Given the description of an element on the screen output the (x, y) to click on. 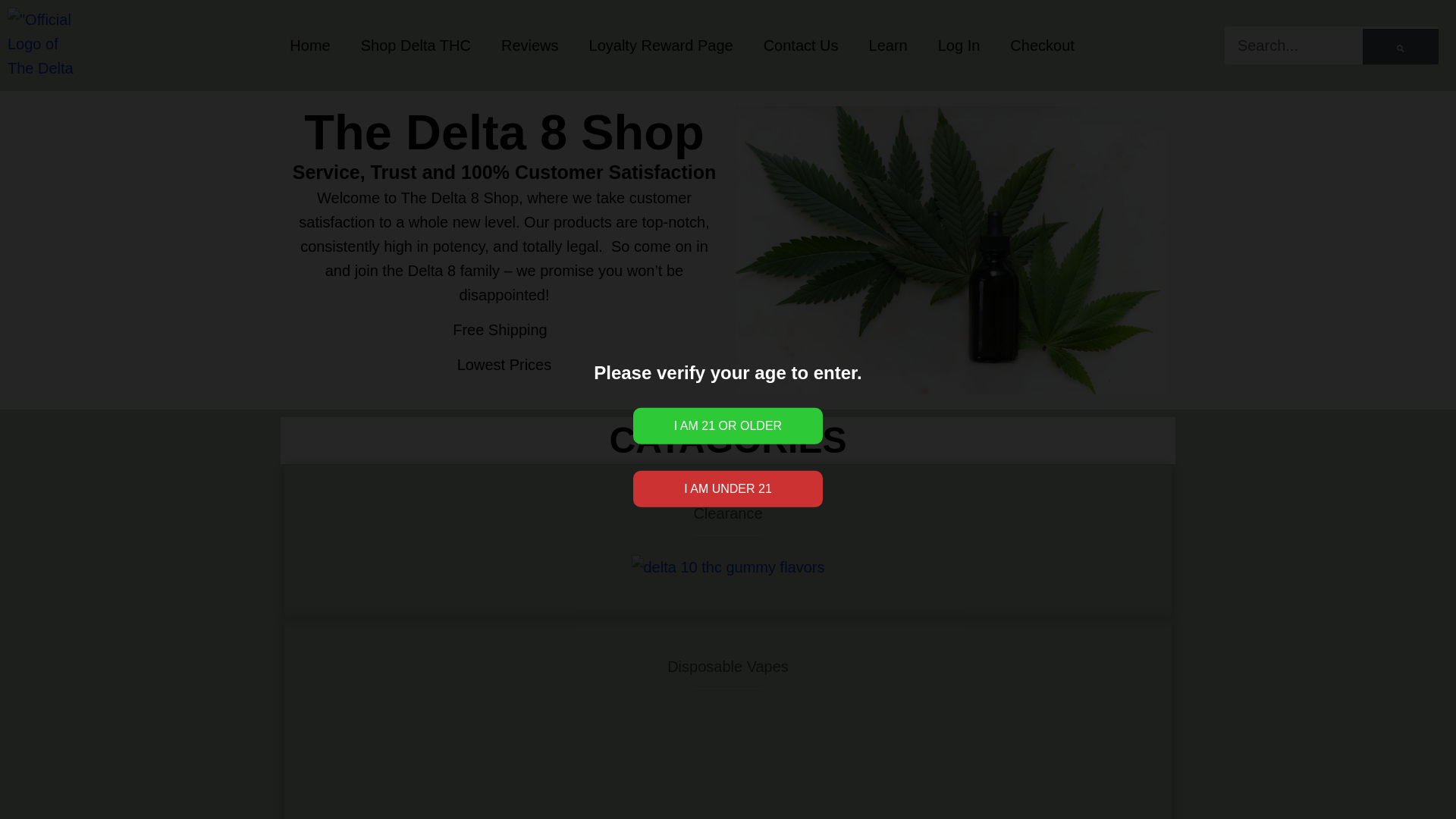
Reviews (529, 45)
Contact Us (800, 45)
Log In (959, 45)
Disposable Vapes (727, 666)
Learn (888, 45)
Clearance (727, 513)
Shop Delta THC (416, 45)
I am 21 or older (727, 425)
Loyalty Reward Page (660, 45)
Checkout (1041, 45)
